Given the description of an element on the screen output the (x, y) to click on. 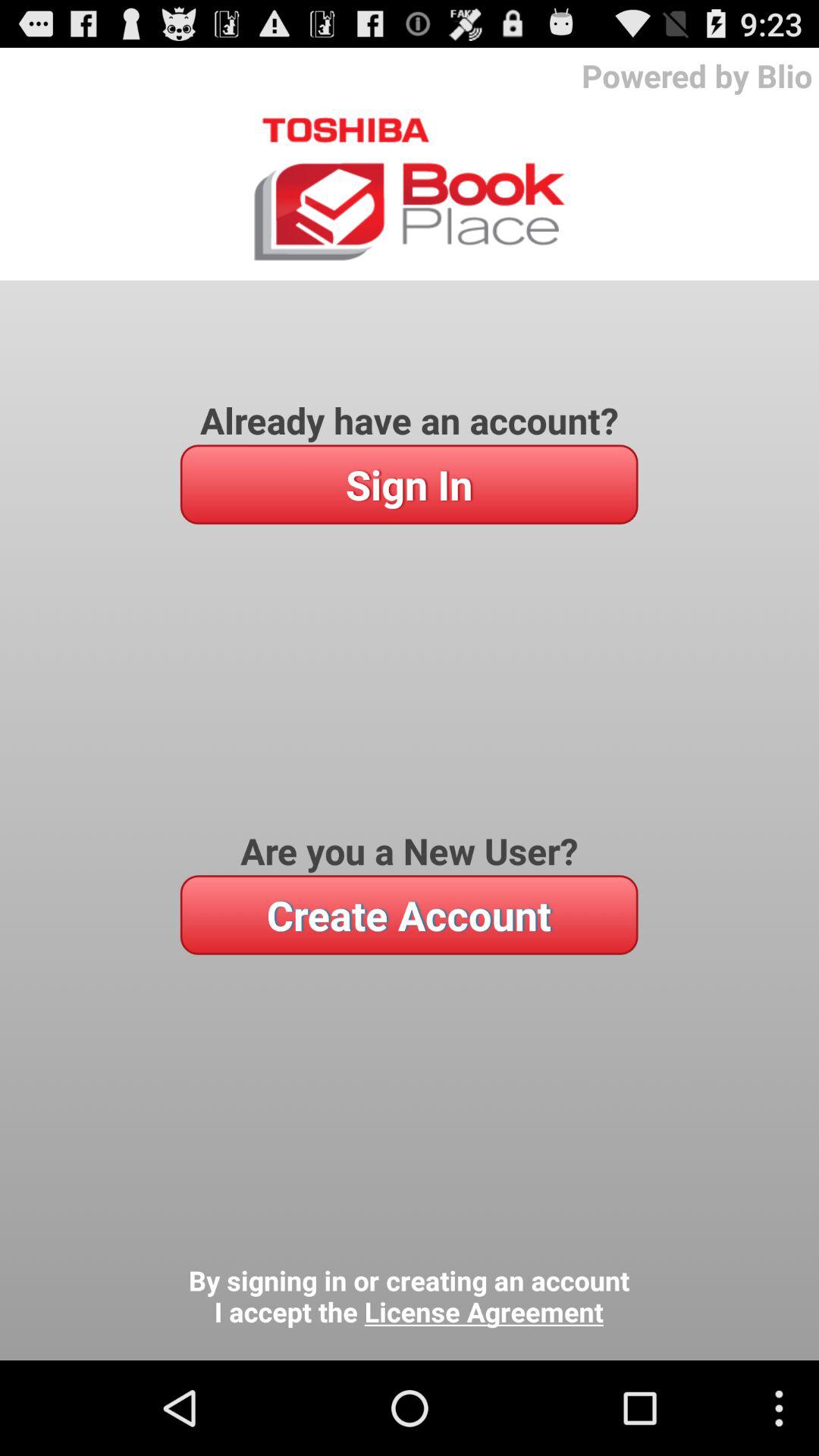
turn off the create account (409, 914)
